Given the description of an element on the screen output the (x, y) to click on. 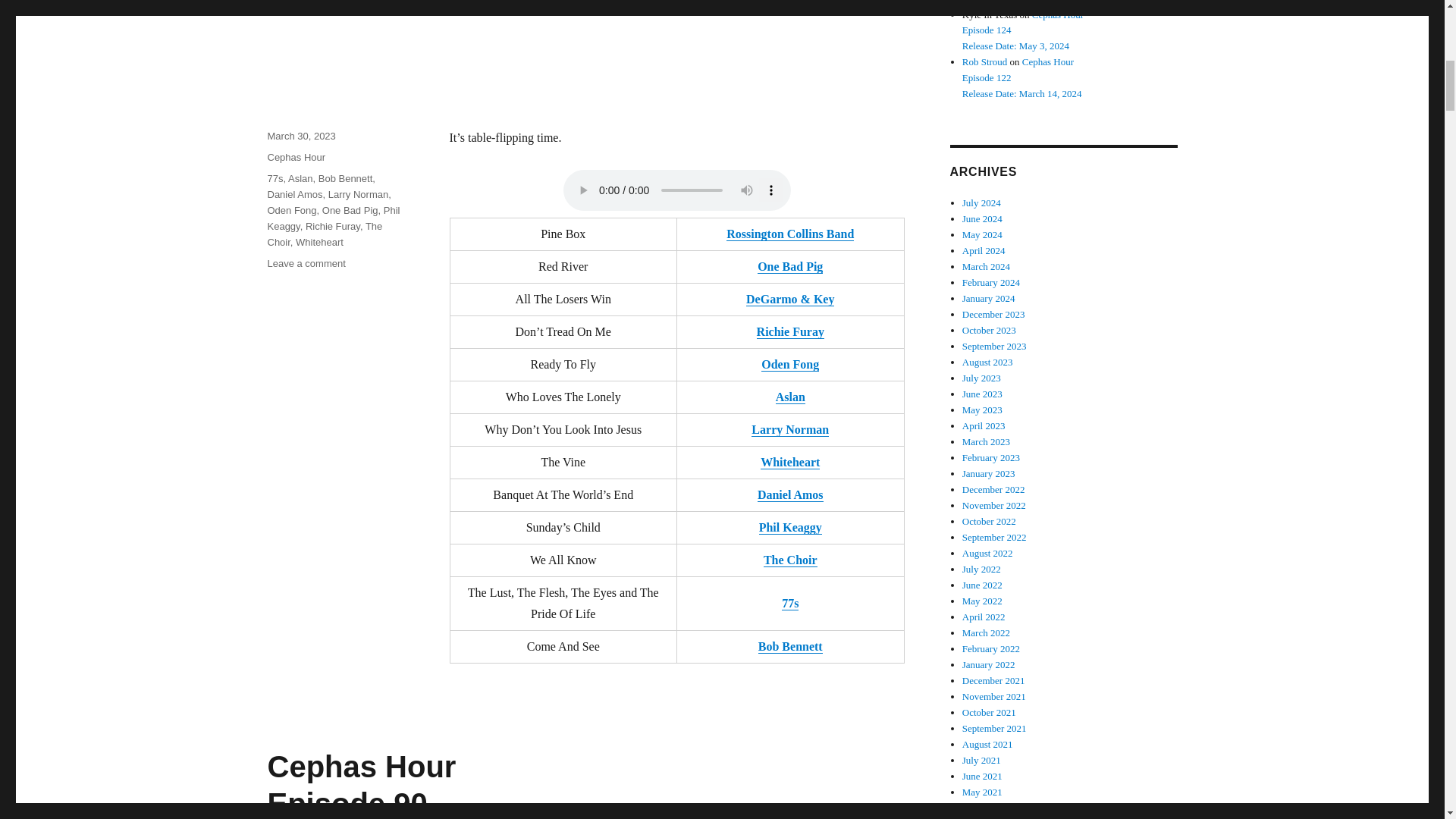
Richie Furay (332, 225)
77s (789, 603)
Bob Bennett (790, 645)
Cephas Hour (295, 156)
One Bad Pig (789, 266)
March 30, 2023 (300, 135)
The Choir (789, 559)
Aslan (300, 178)
Larry Norman (789, 429)
Richie Furay (790, 331)
Oden Fong (789, 364)
Oden Fong (290, 210)
Whiteheart (319, 242)
